Given the description of an element on the screen output the (x, y) to click on. 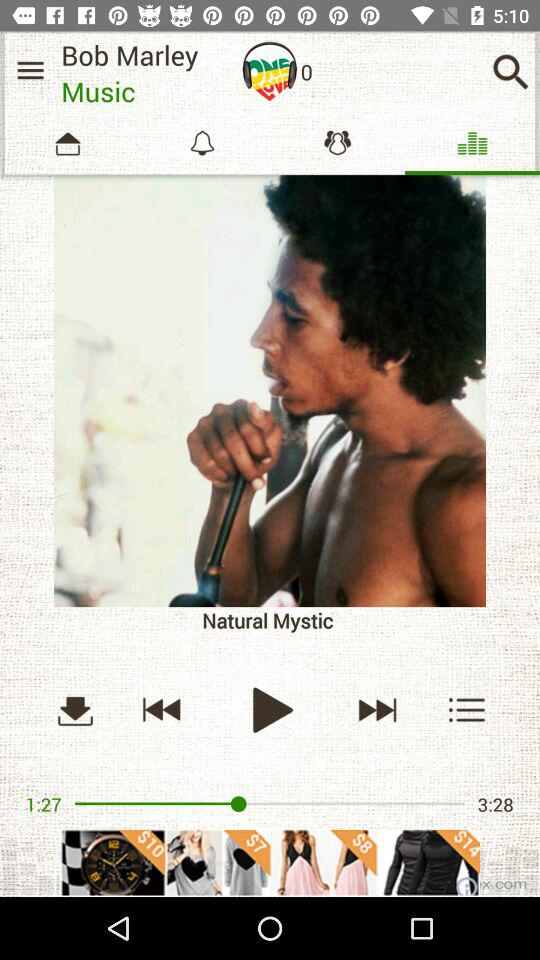
speaker (269, 71)
